Given the description of an element on the screen output the (x, y) to click on. 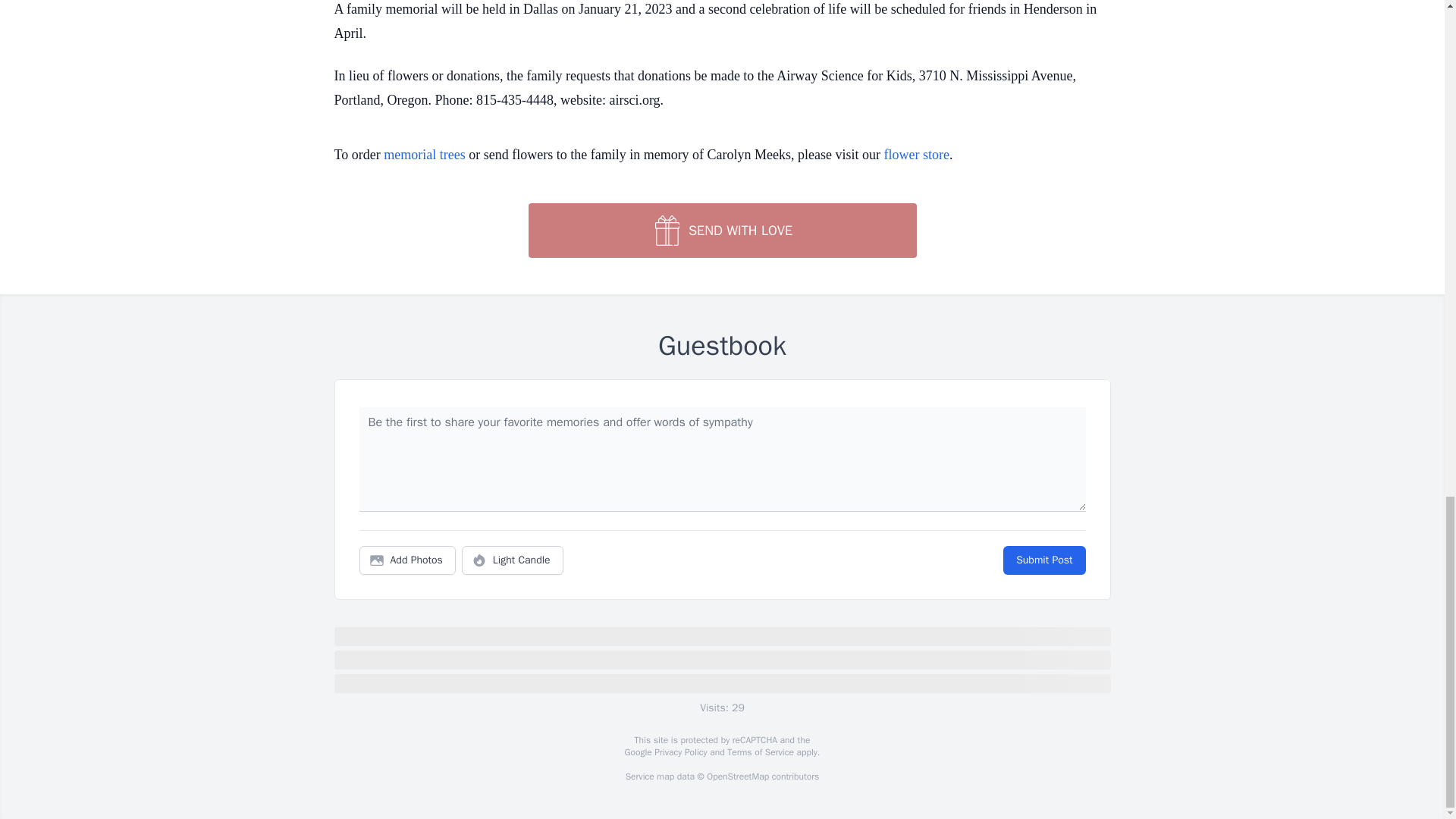
Terms of Service (759, 752)
memorial trees (424, 154)
OpenStreetMap (737, 776)
Add Photos (407, 560)
Light Candle (512, 560)
Privacy Policy (679, 752)
Submit Post (1043, 560)
flower store (916, 154)
SEND WITH LOVE (721, 230)
